Given the description of an element on the screen output the (x, y) to click on. 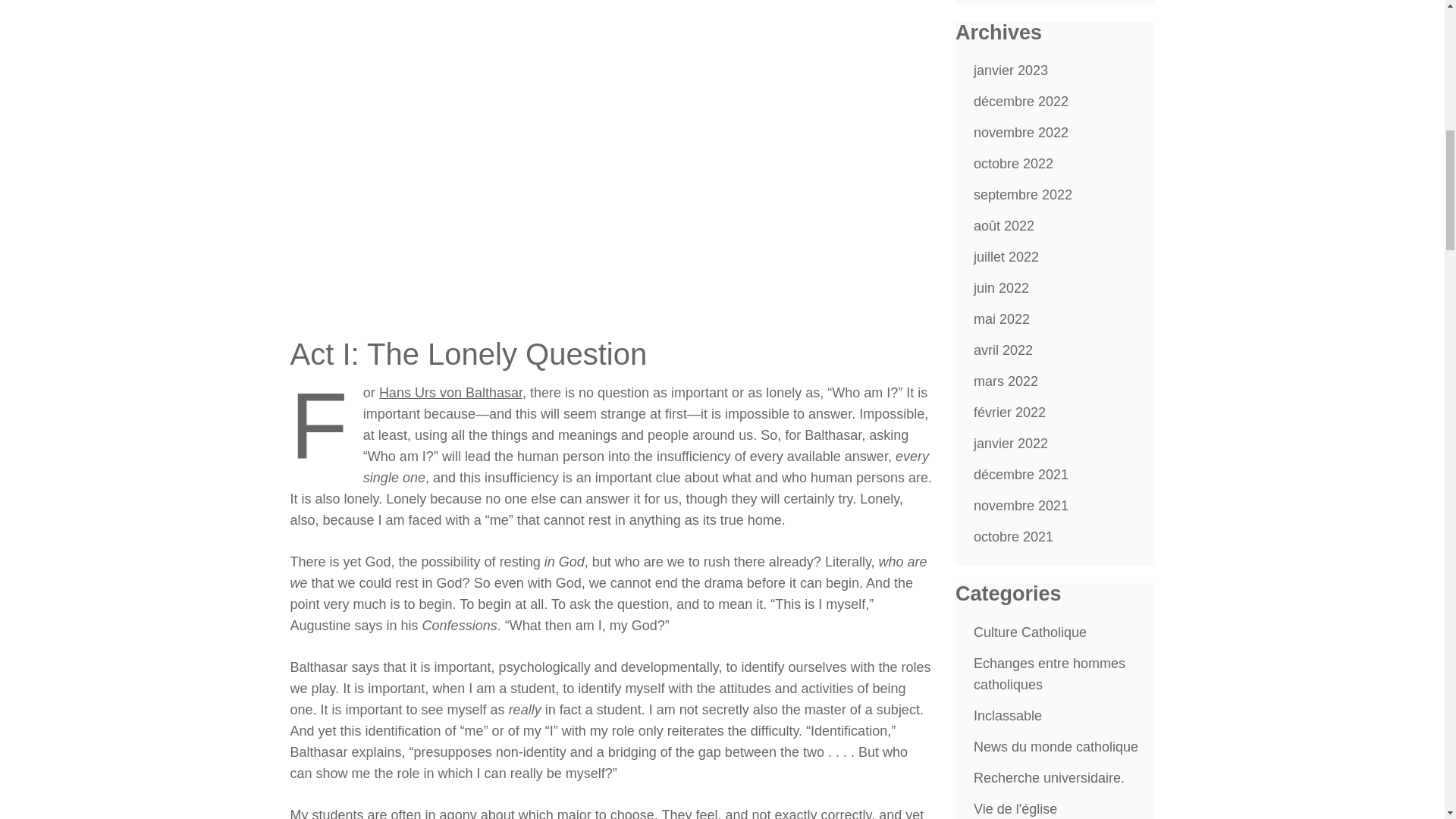
septembre 2022 (1022, 194)
novembre 2022 (1021, 132)
avril 2022 (1003, 350)
mai 2022 (1001, 319)
janvier 2023 (1011, 70)
octobre 2022 (1013, 163)
Hans Urs von Balthasar (450, 392)
juillet 2022 (1006, 256)
juin 2022 (1001, 287)
